Given the description of an element on the screen output the (x, y) to click on. 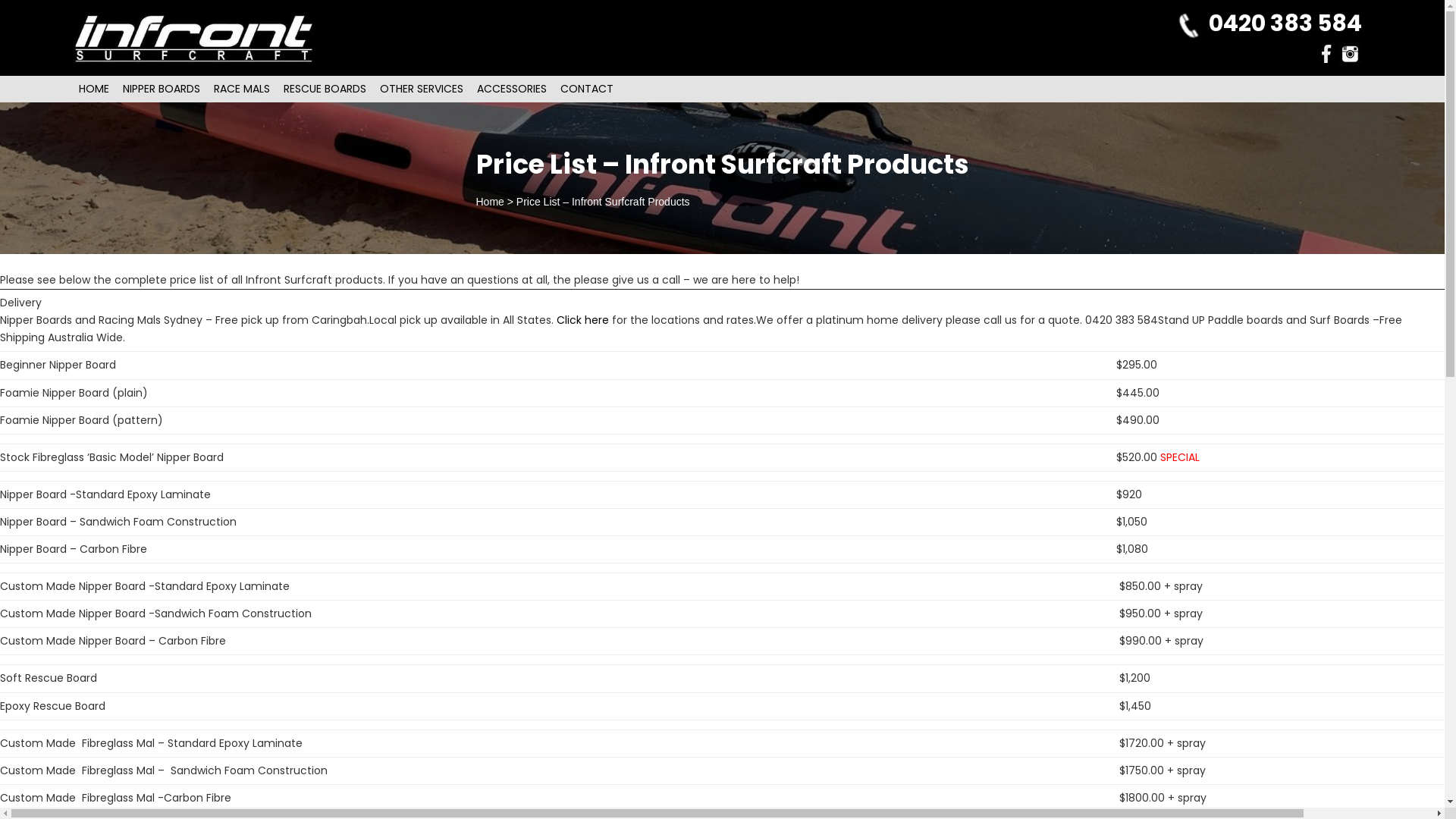
RESCUE BOARDS Element type: text (324, 88)
Home Element type: text (490, 201)
Infront on Instagram Element type: hover (1350, 53)
HOME Element type: text (94, 88)
Click here Element type: text (583, 319)
ACCESSORIES Element type: text (511, 88)
RACE MALS Element type: text (241, 88)
SKIP TO PRIMARY CONTENT Element type: text (148, 88)
NIPPER BOARDS Element type: text (161, 88)
OTHER SERVICES Element type: text (421, 88)
Call Infront Surfcraft Element type: hover (1188, 25)
Infront on Facebook Element type: hover (1326, 53)
SKIP TO SECONDARY CONTENT Element type: text (158, 88)
CONTACT Element type: text (586, 88)
